Given the description of an element on the screen output the (x, y) to click on. 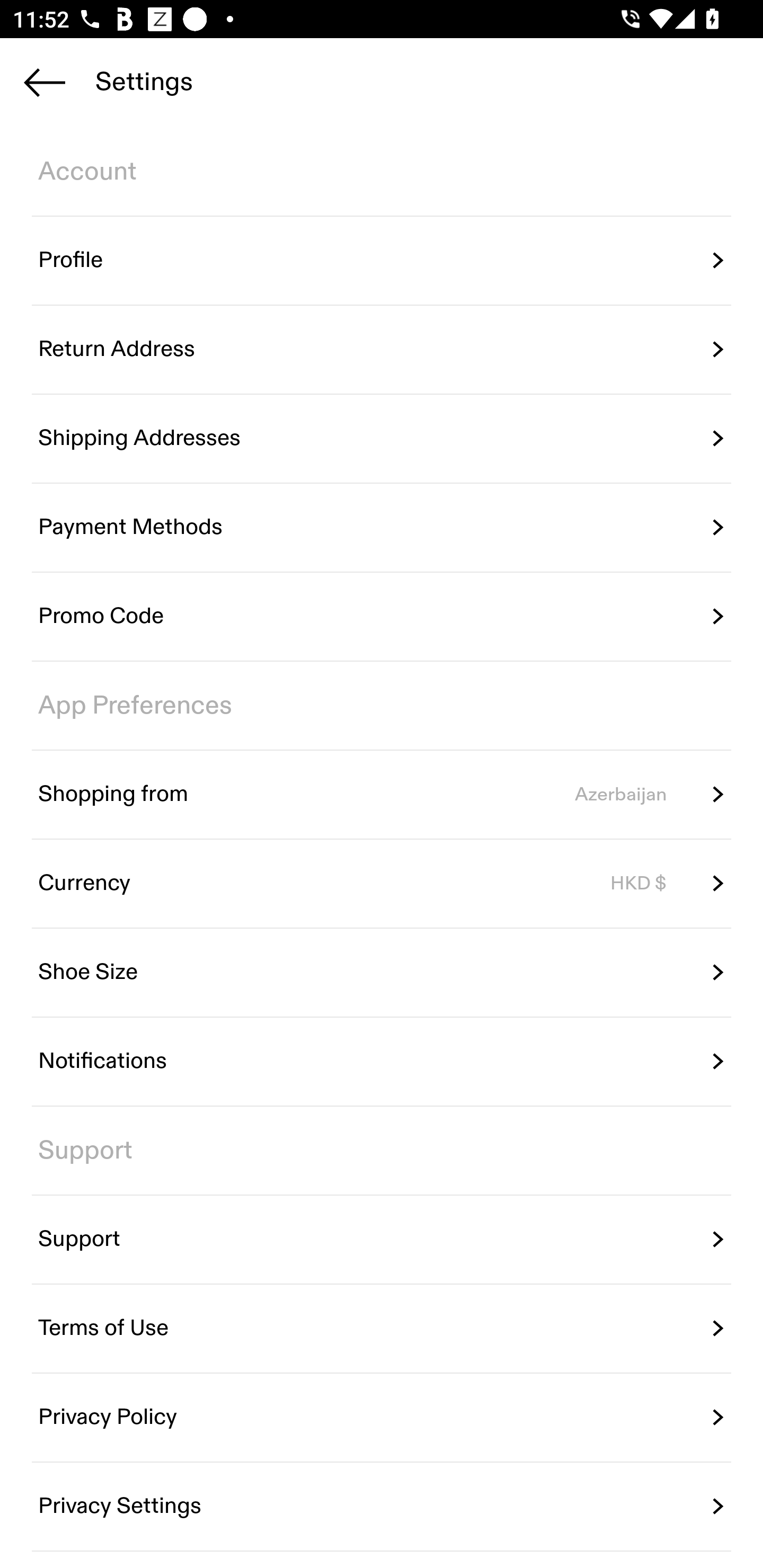
Navigate up (44, 82)
Profile (381, 260)
Return Address (381, 349)
Shipping Addresses (381, 437)
Payment Methods (381, 527)
Promo Code (381, 616)
Shopping from Azerbaijan (381, 793)
Currency HKD $ (381, 883)
Shoe Size (381, 972)
Notifications (381, 1061)
Support (381, 1239)
Terms of Use (381, 1328)
Privacy Policy (381, 1417)
Privacy Settings (381, 1505)
